Given the description of an element on the screen output the (x, y) to click on. 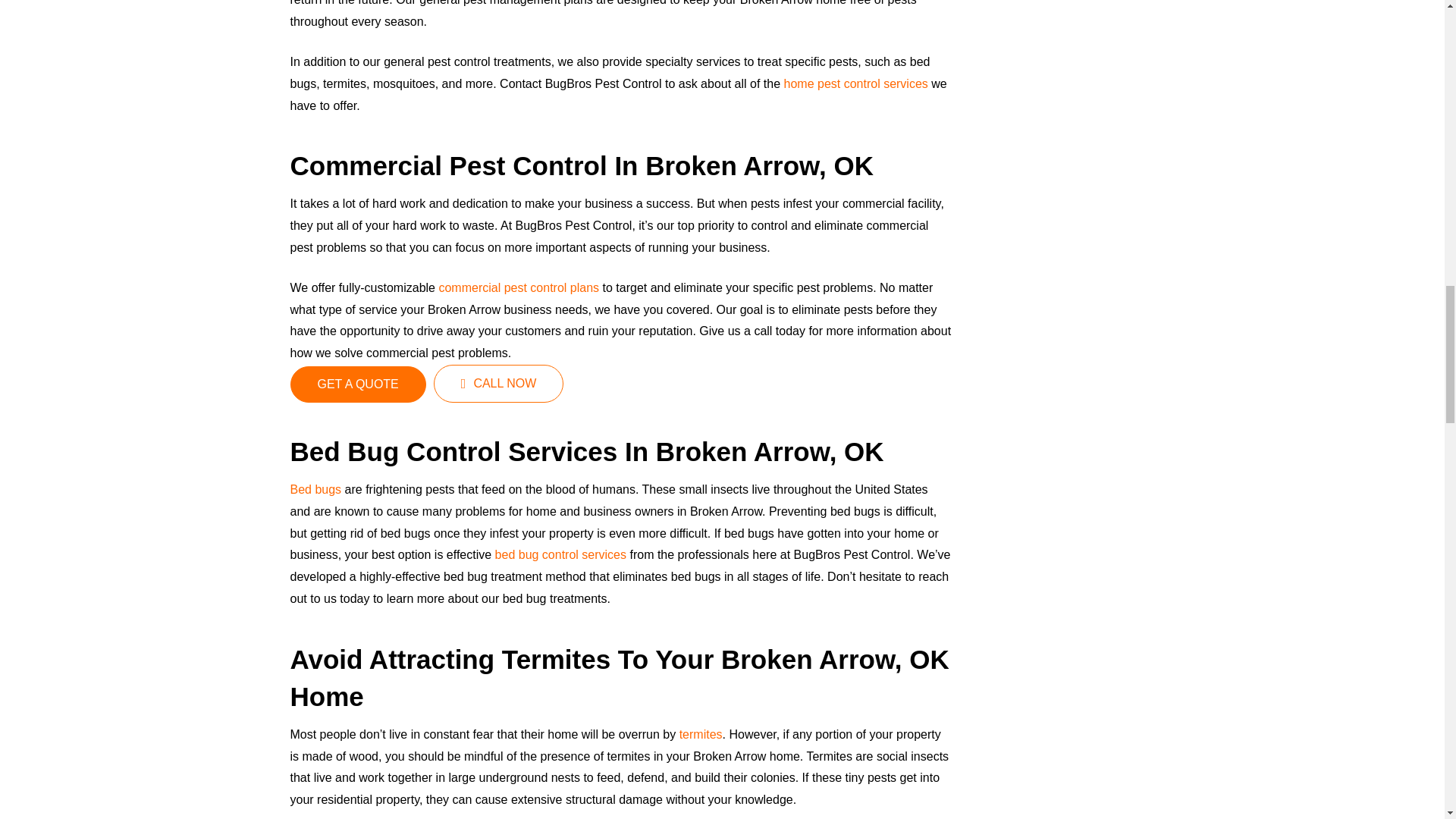
home pest control services (854, 83)
GET A QUOTE (357, 384)
Bed bugs (314, 489)
commercial pest control plans (516, 287)
CALL NOW (498, 383)
termites (700, 734)
bed bug control services (559, 554)
